Given the description of an element on the screen output the (x, y) to click on. 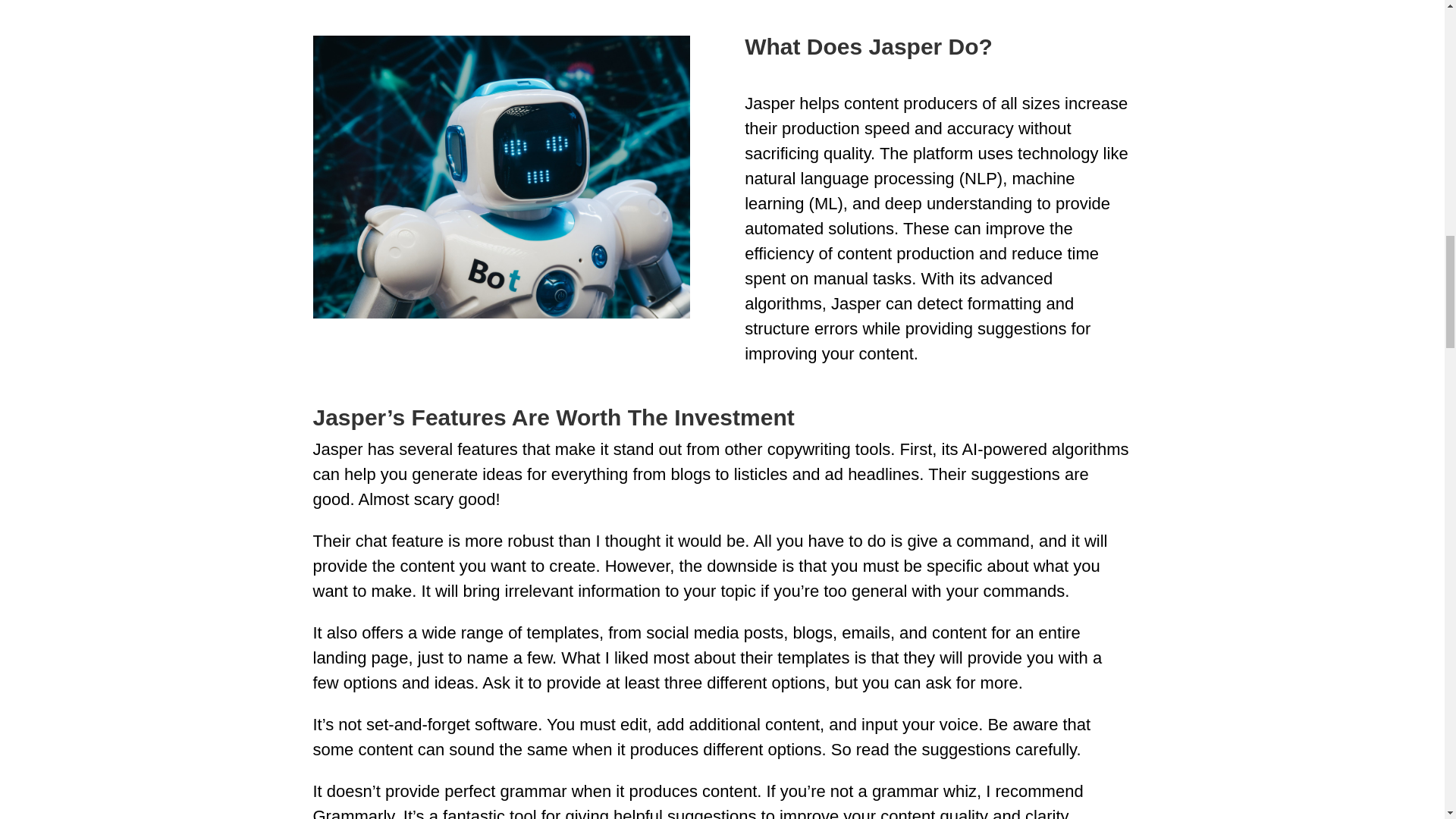
pexels-kindel-media-8566472 (500, 177)
